Given the description of an element on the screen output the (x, y) to click on. 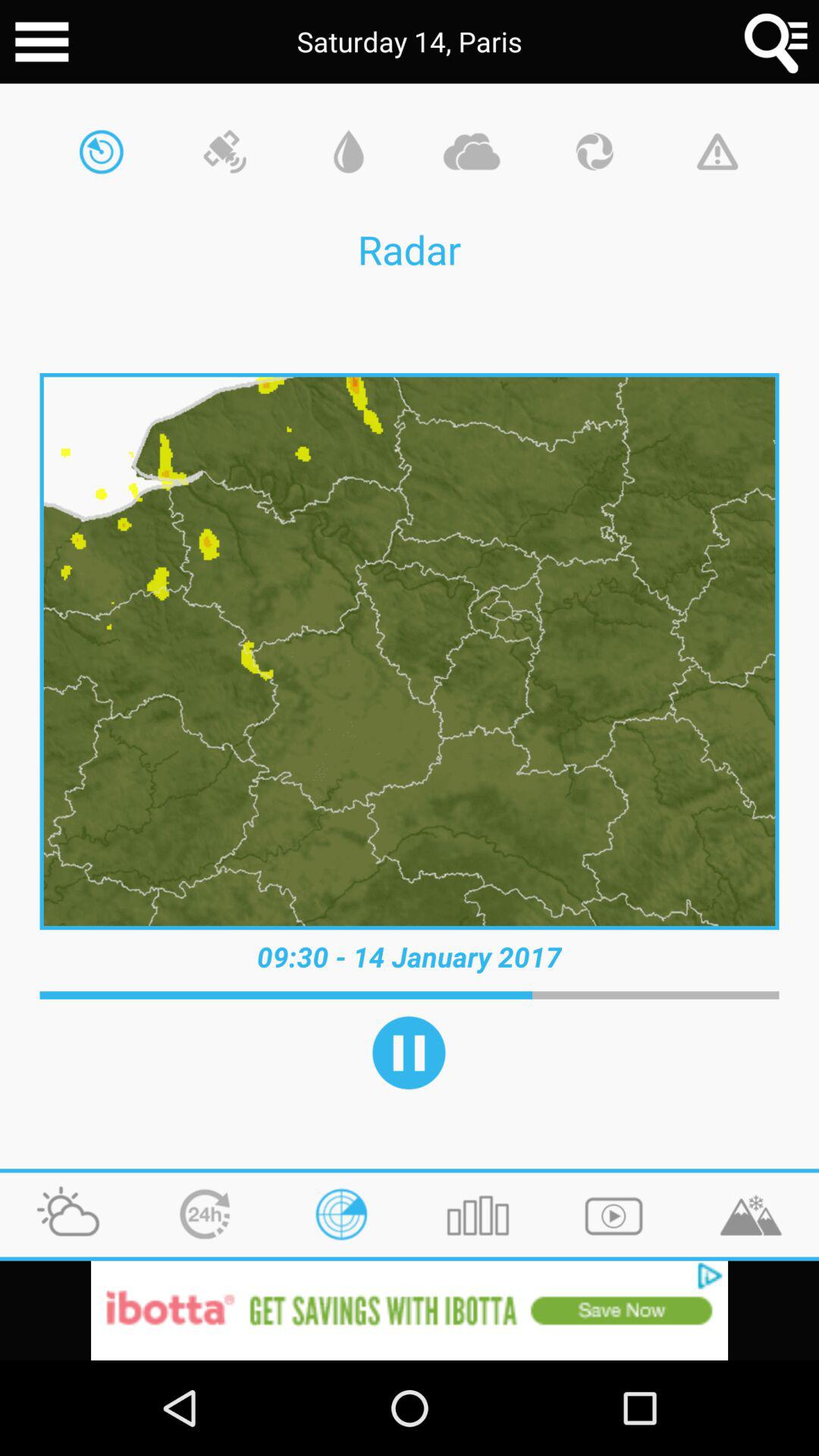
search (777, 41)
